Given the description of an element on the screen output the (x, y) to click on. 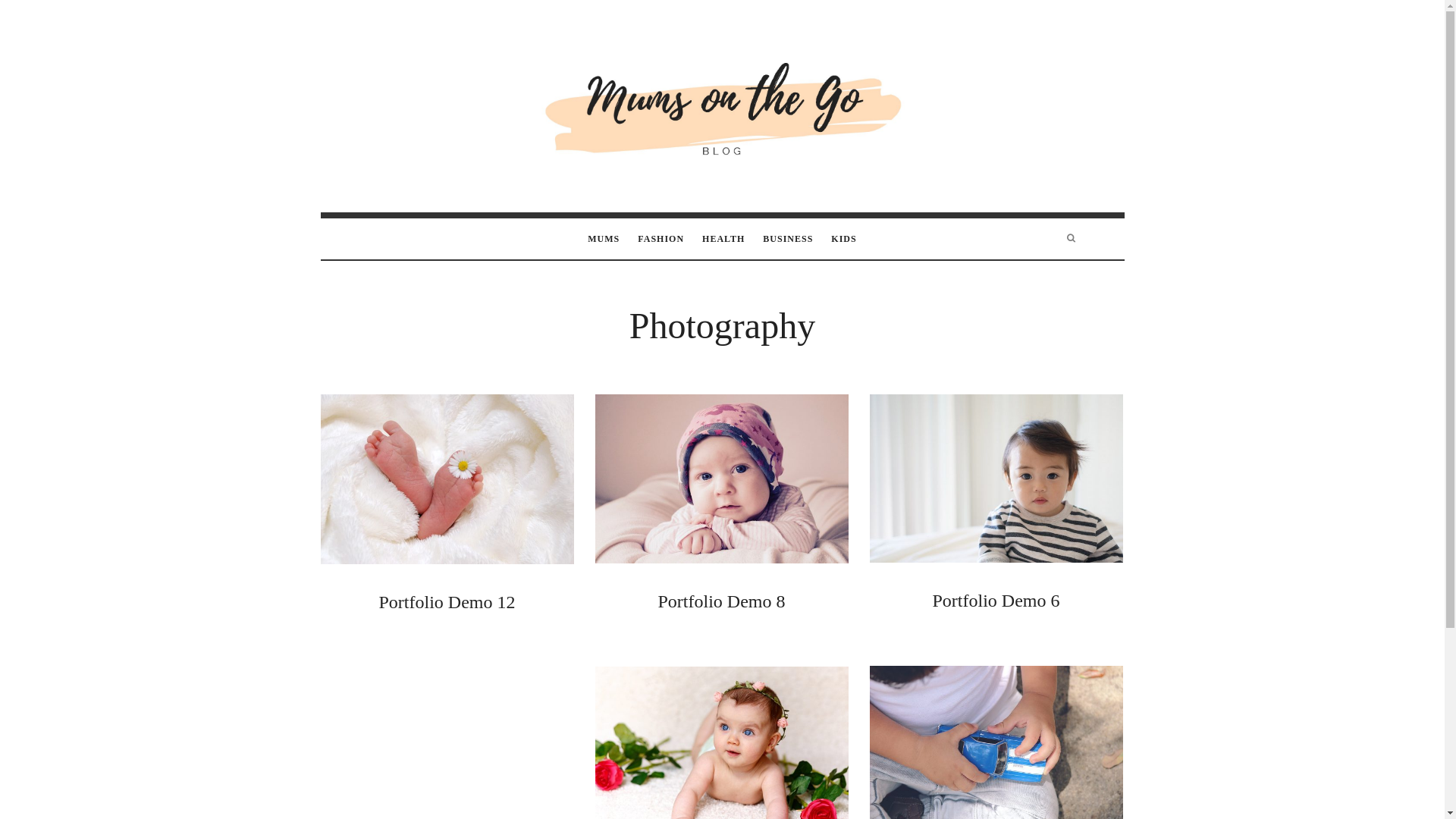
BUSINESS Element type: text (787, 238)
Portfolio Demo 6 Element type: text (996, 600)
HEALTH Element type: text (723, 238)
Portfolio Demo 8 Element type: text (721, 601)
KIDS Element type: text (843, 238)
Search Element type: text (41, 17)
Portfolio Demo 12 Element type: text (447, 601)
FASHION Element type: text (660, 238)
Mums On The Go Element type: text (722, 104)
MUMS Element type: text (603, 238)
